Given the description of an element on the screen output the (x, y) to click on. 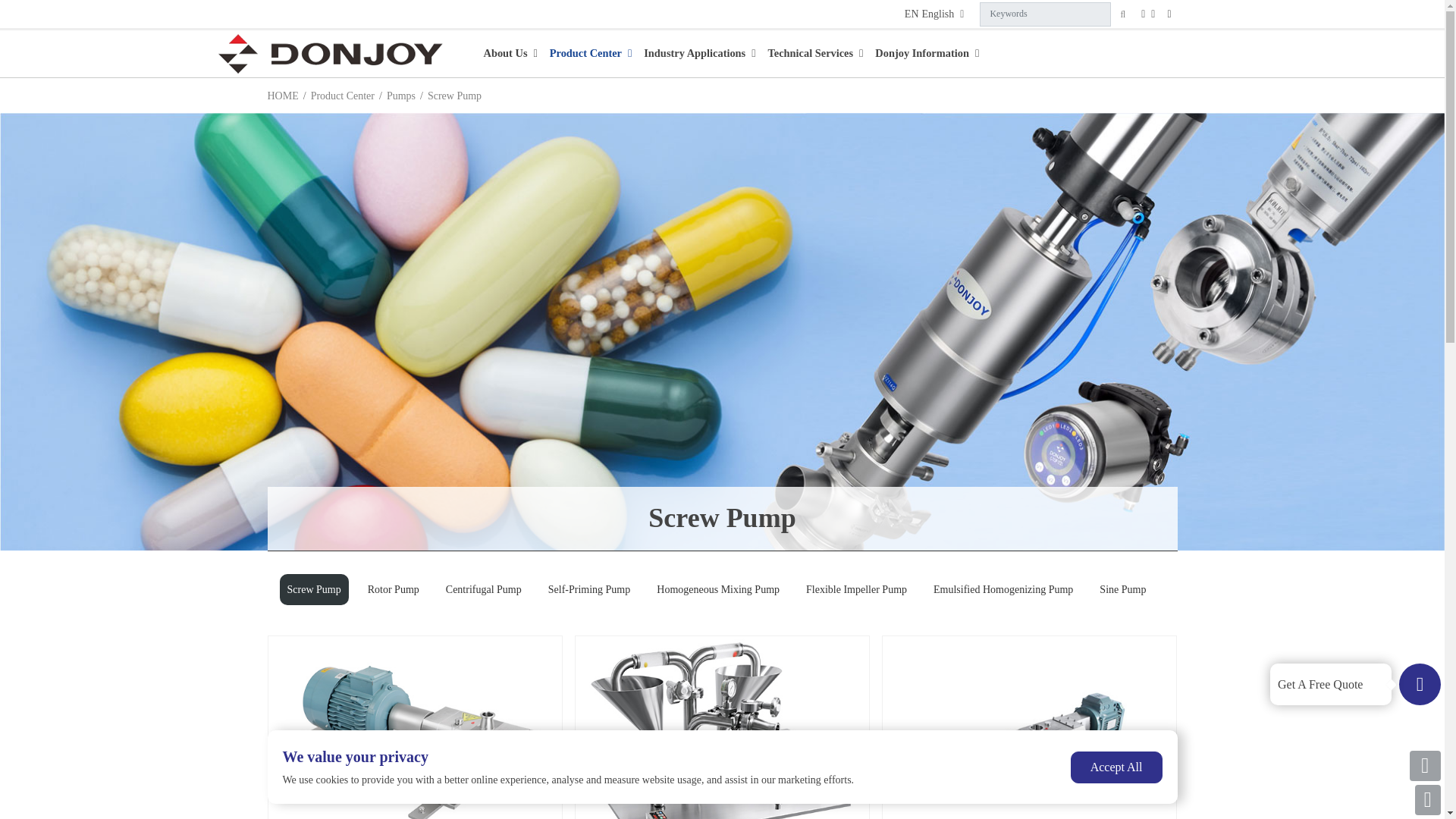
Industry Applications (699, 53)
About Us (510, 53)
Product Center (591, 53)
